Given the description of an element on the screen output the (x, y) to click on. 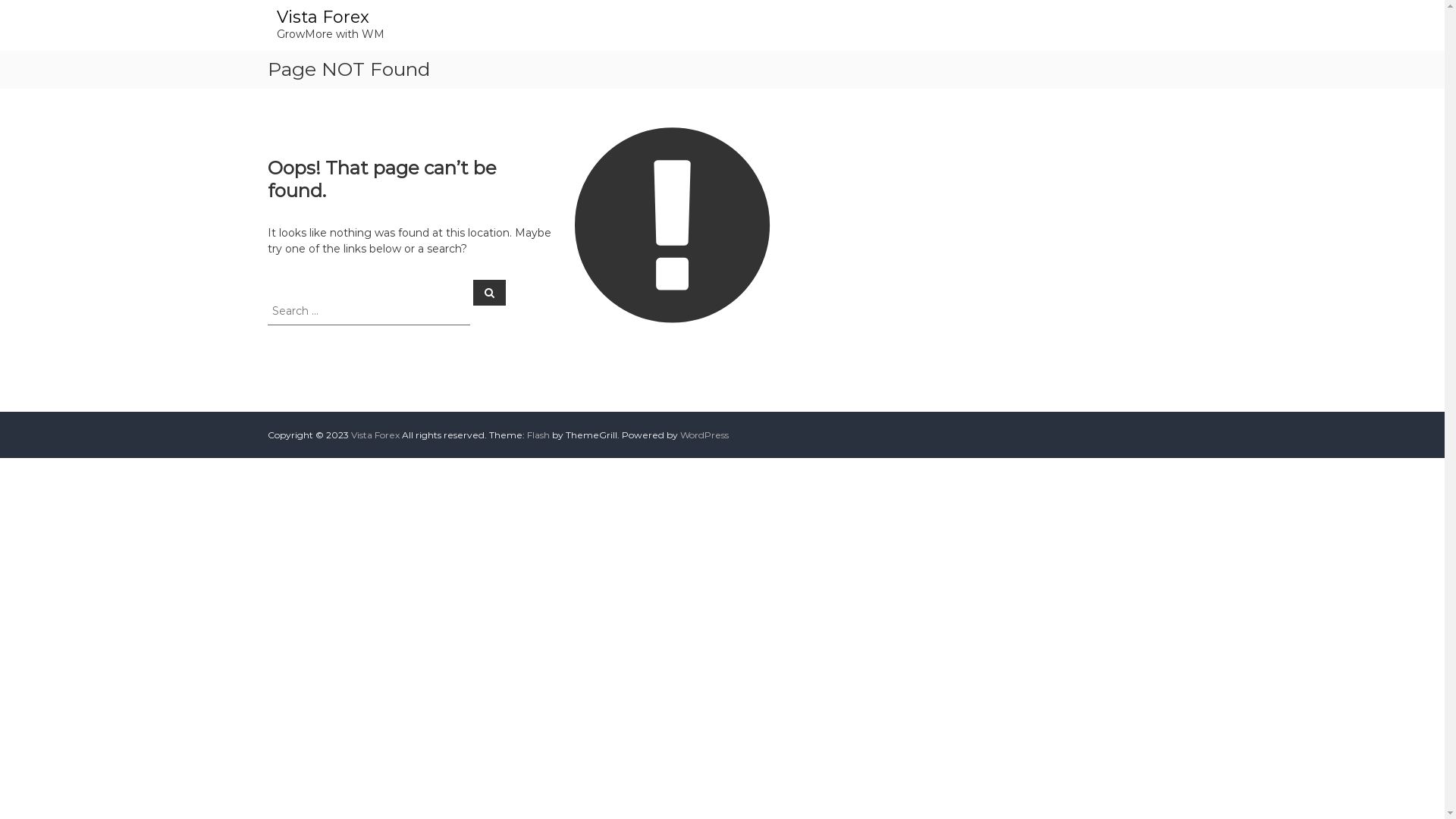
Flash Element type: text (537, 434)
WordPress Element type: text (703, 434)
Vista Forex Element type: text (374, 434)
Vista Forex Element type: text (322, 16)
Search Element type: text (489, 291)
